Given the description of an element on the screen output the (x, y) to click on. 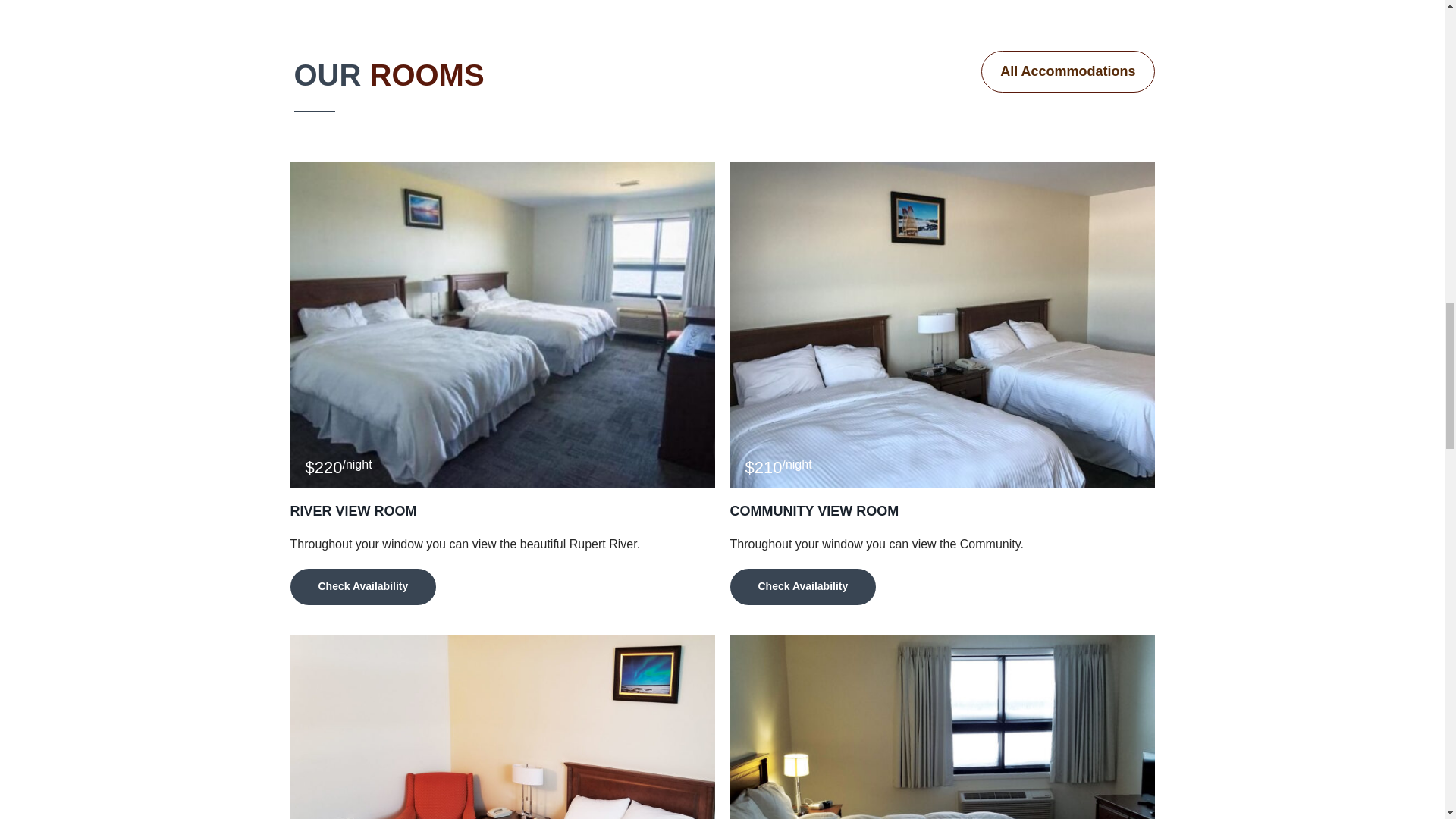
Check Availability (362, 586)
RIVER VIEW ROOM (352, 510)
COMMUNITY VIEW ROOM (813, 510)
All Accommodations (1067, 71)
Check Availability (802, 586)
